Given the description of an element on the screen output the (x, y) to click on. 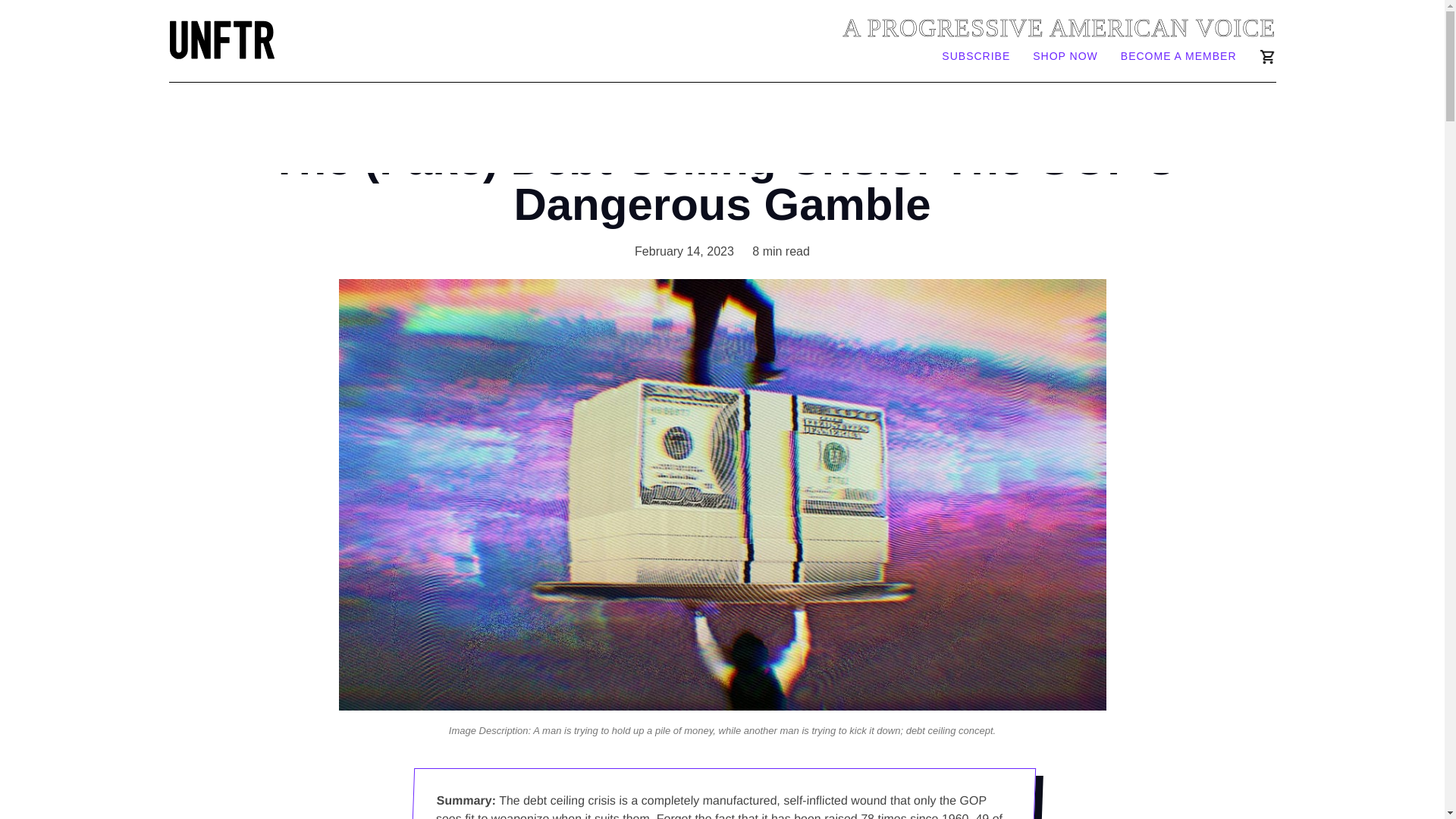
Resources (974, 127)
SUBSCRIBE (976, 58)
Coffee (821, 127)
Members (892, 127)
Merch (676, 127)
Newsletter (410, 127)
About (1047, 127)
Bookshop (749, 127)
SHOP NOW (1064, 58)
Contact (1112, 127)
